Given the description of an element on the screen output the (x, y) to click on. 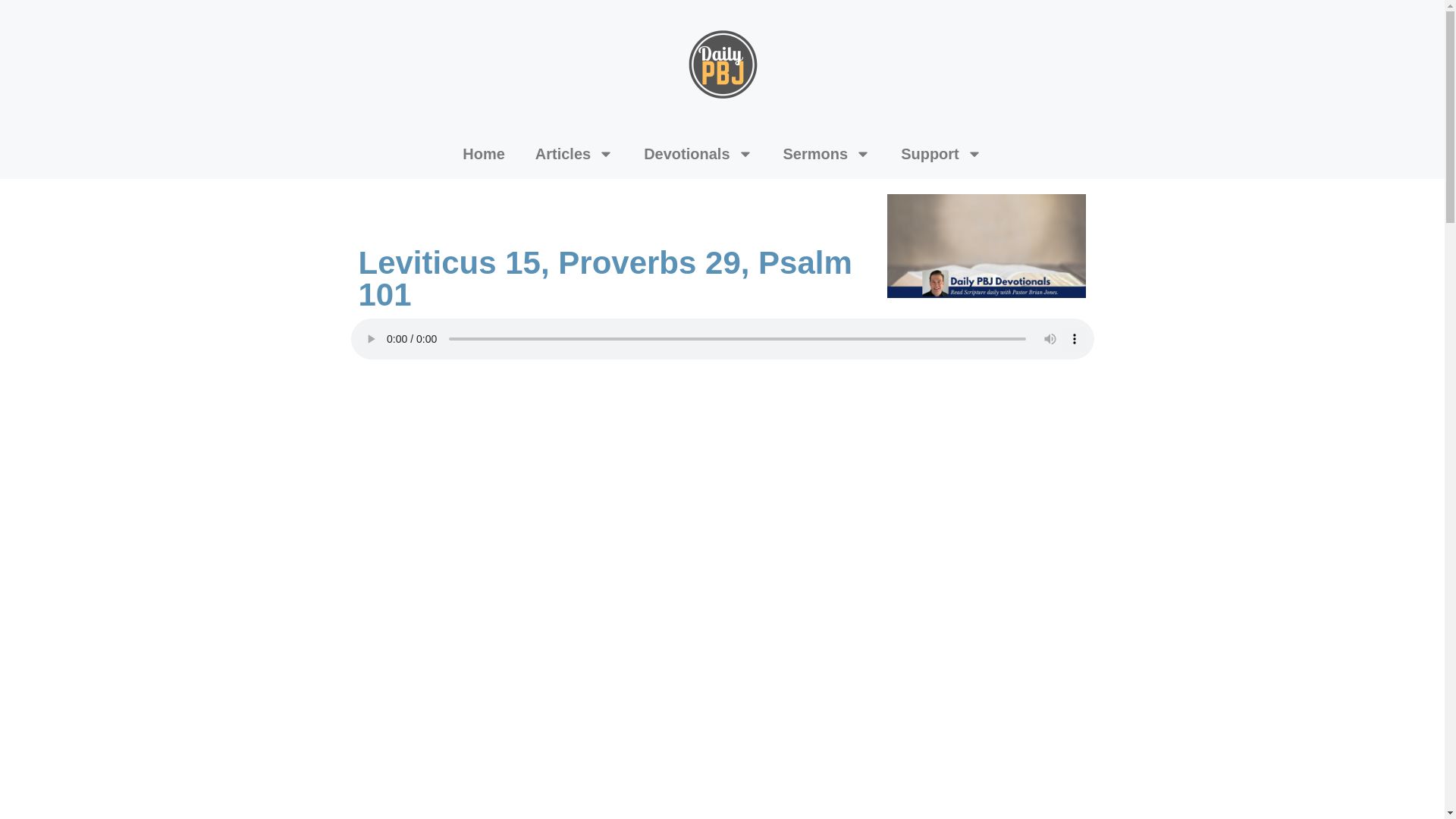
Sermons (827, 153)
Devotionals (697, 153)
Articles (573, 153)
Home (482, 153)
Support (941, 153)
